Given the description of an element on the screen output the (x, y) to click on. 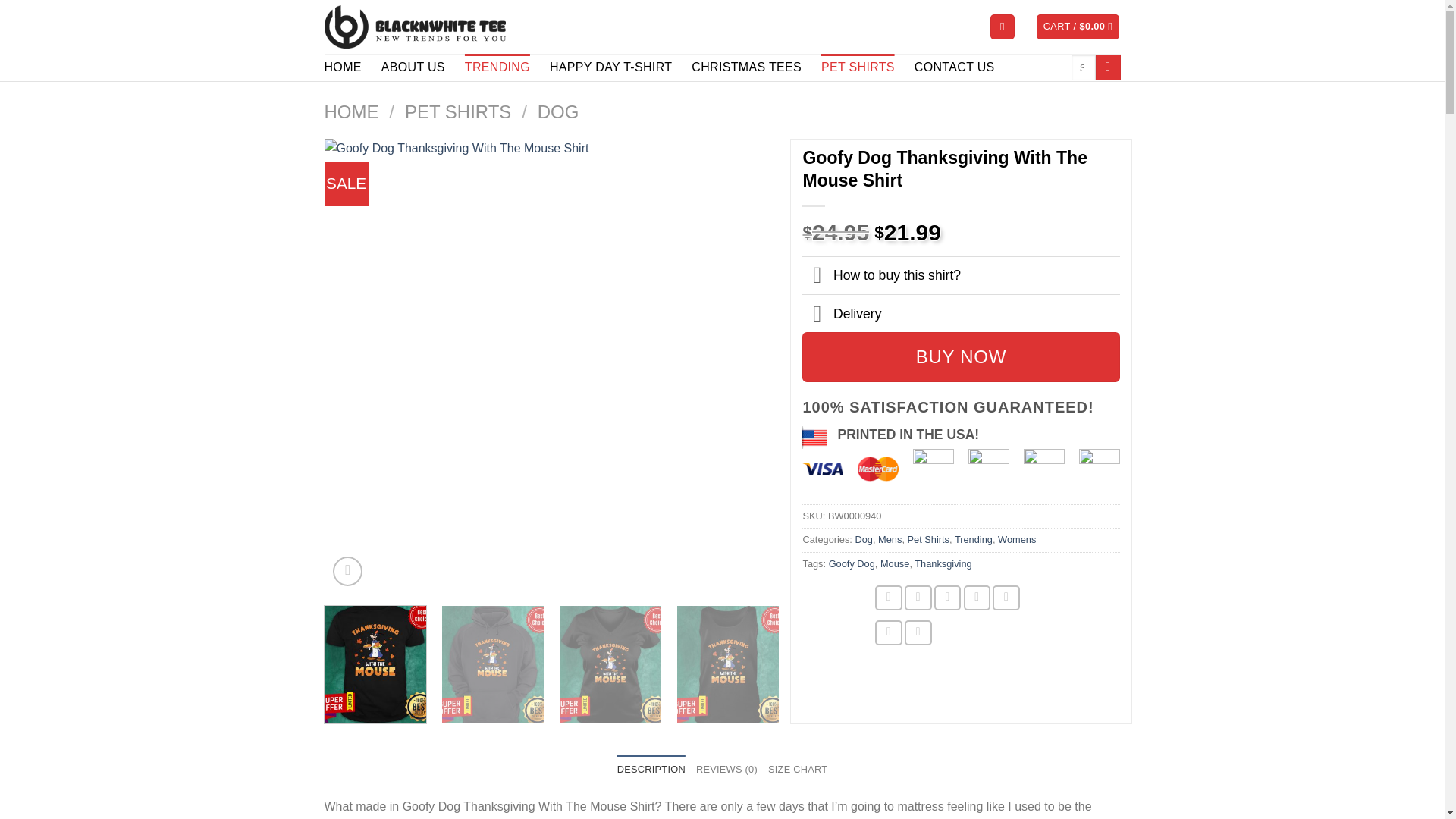
Zoom (347, 571)
Mouse (894, 563)
Share on Facebook (888, 597)
DOG (558, 111)
Pet Shirts (928, 539)
CHRISTMAS TEES (746, 67)
Goofy Dog (851, 563)
Delivery (960, 313)
